Given the description of an element on the screen output the (x, y) to click on. 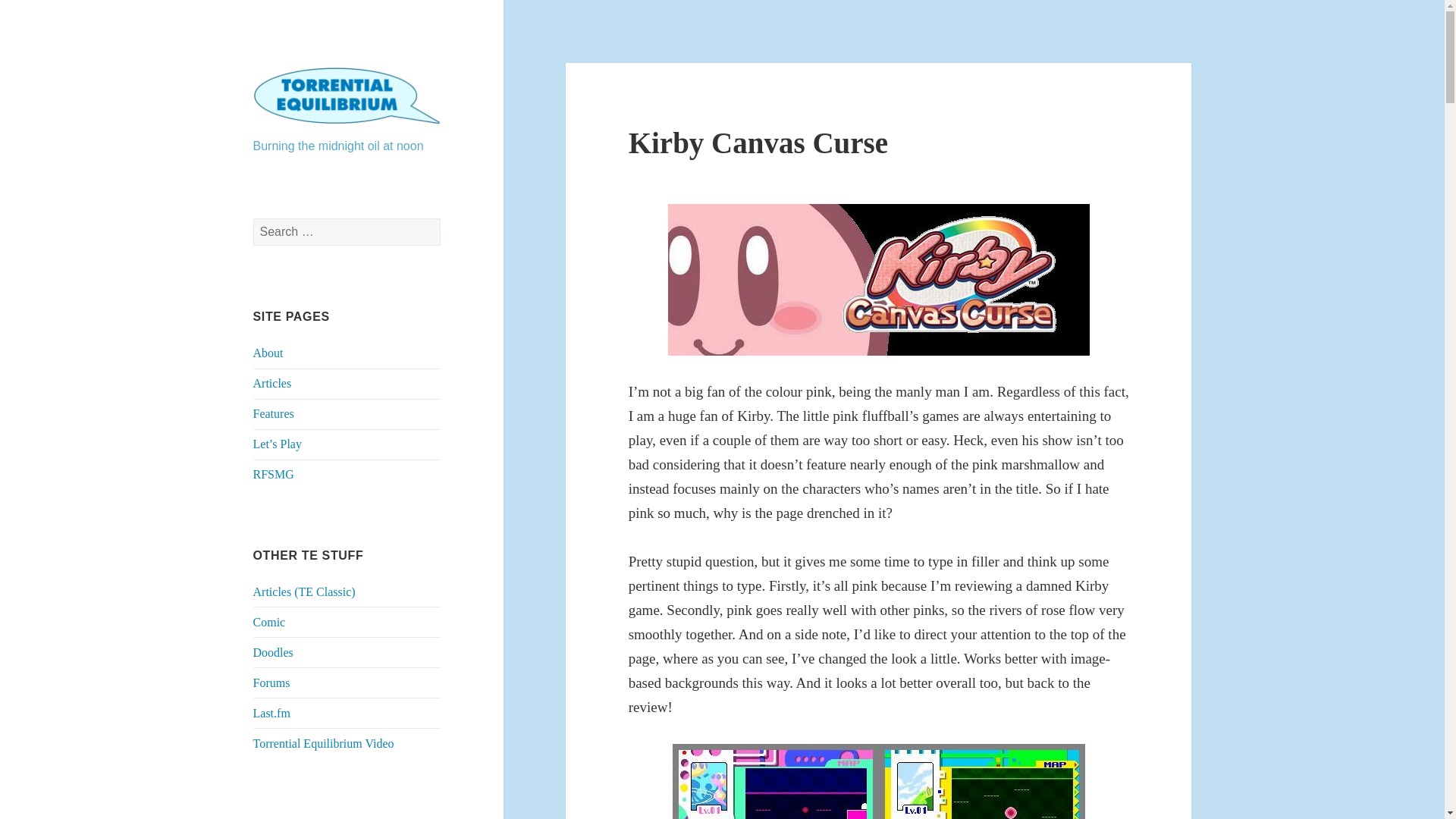
Comic (269, 621)
Forums (271, 682)
RFSMG (273, 473)
Doodles (273, 652)
Articles (272, 382)
Last.fm (271, 712)
Features (273, 413)
